Given the description of an element on the screen output the (x, y) to click on. 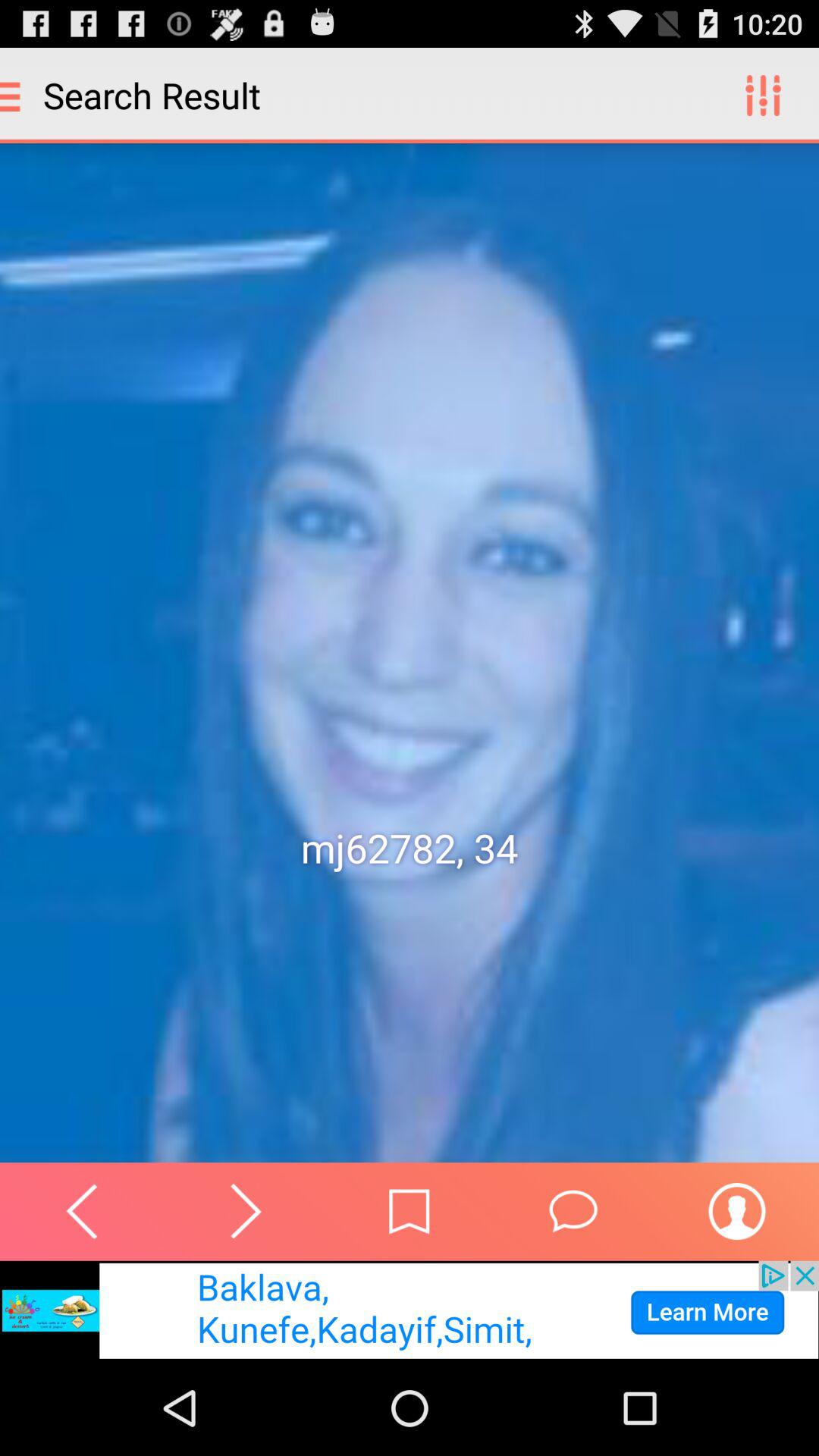
next page (245, 1211)
